Given the description of an element on the screen output the (x, y) to click on. 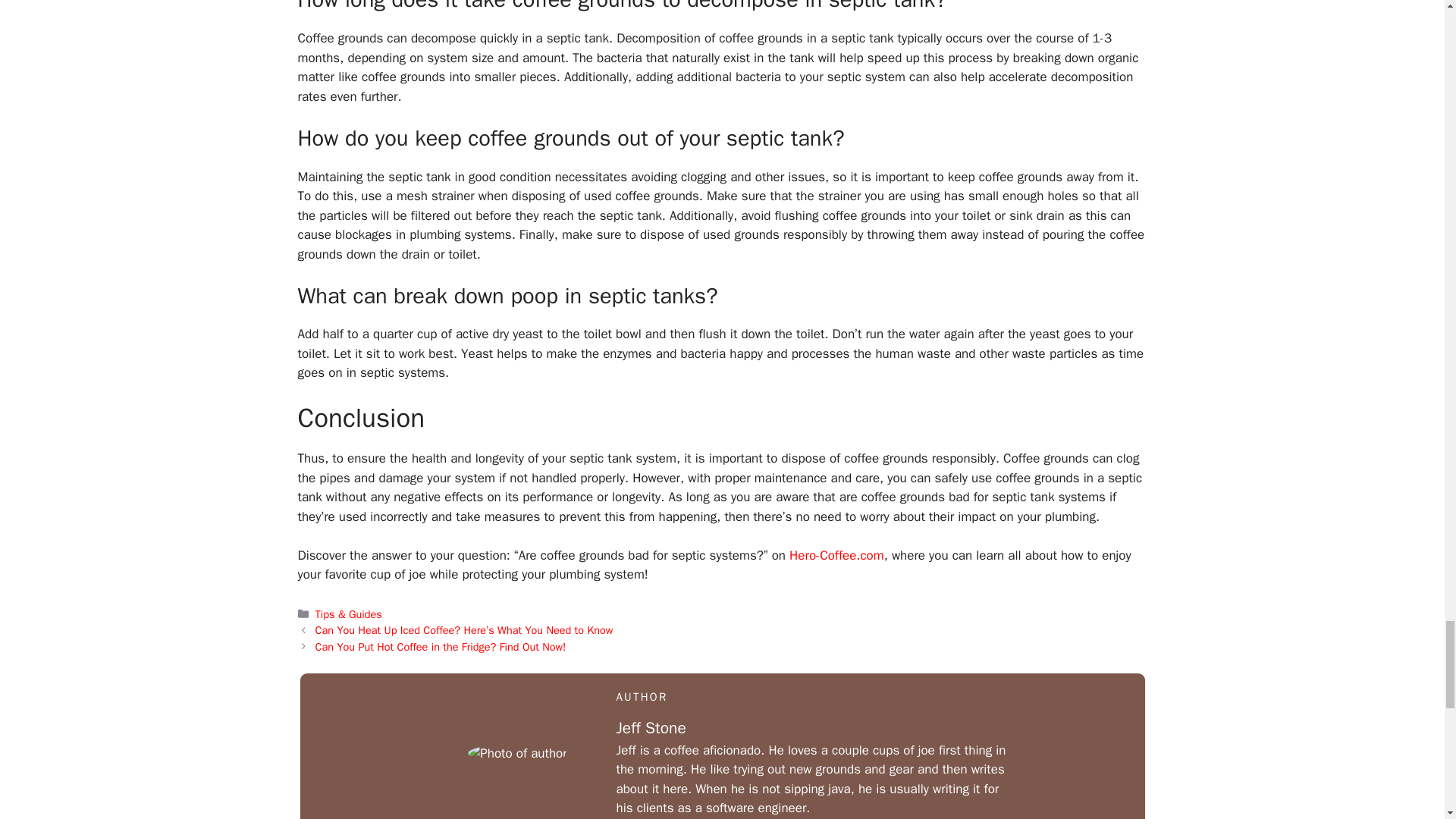
Can You Put Hot Coffee in the Fridge? Find Out Now! (440, 646)
Hero-Coffee.com (836, 555)
